Given the description of an element on the screen output the (x, y) to click on. 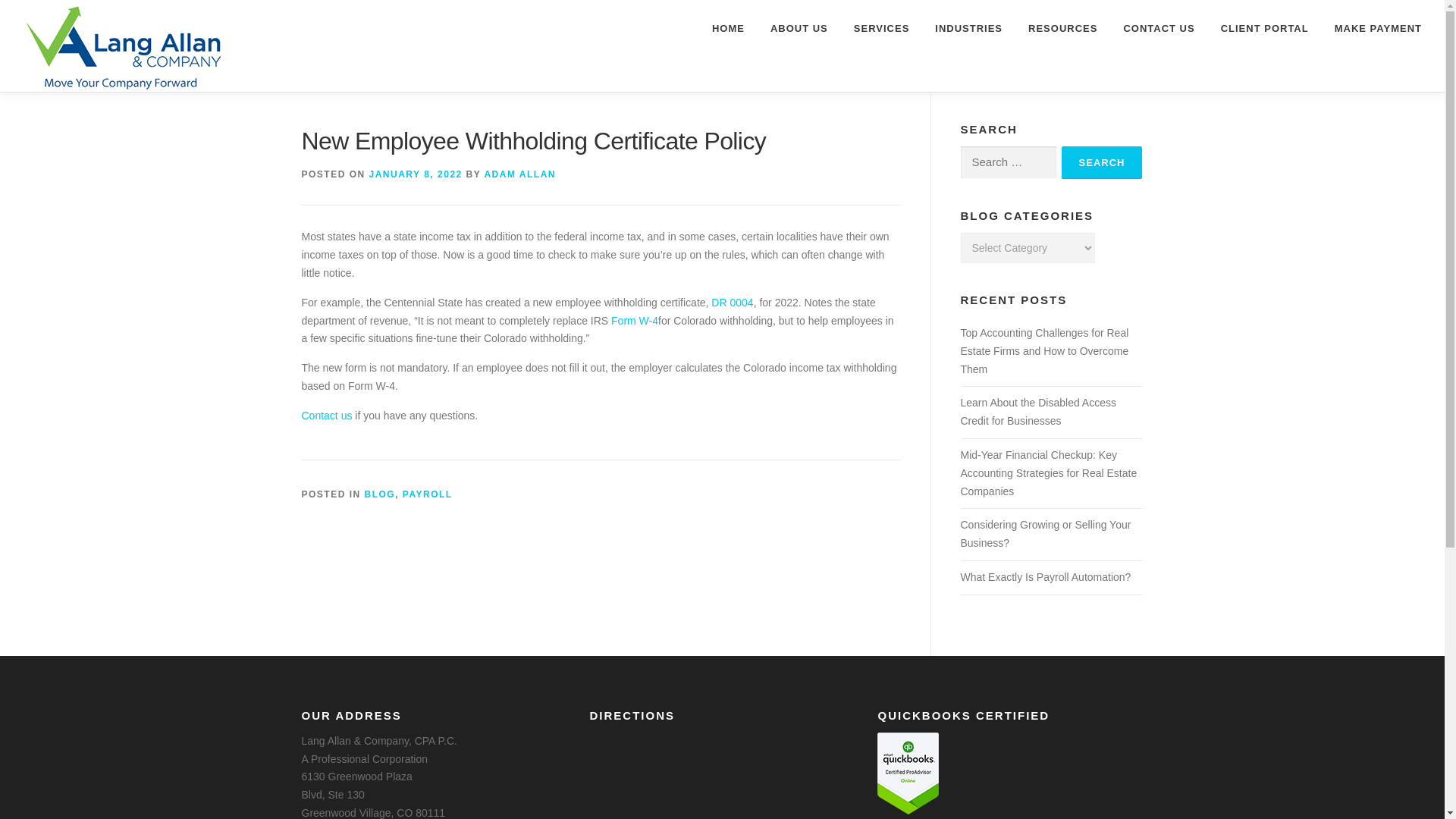
Form W-4 (634, 320)
Search (1101, 162)
CONTACT US (1158, 28)
Contact us (326, 415)
RESOURCES (1061, 28)
ADAM ALLAN (519, 173)
Contact (326, 415)
INDUSTRIES (967, 28)
CLIENT PORTAL (1265, 28)
DR 0004 (731, 302)
ABOUT US (799, 28)
JANUARY 8, 2022 (416, 173)
MAKE PAYMENT (1372, 28)
Search (1101, 162)
SERVICES (882, 28)
